Given the description of an element on the screen output the (x, y) to click on. 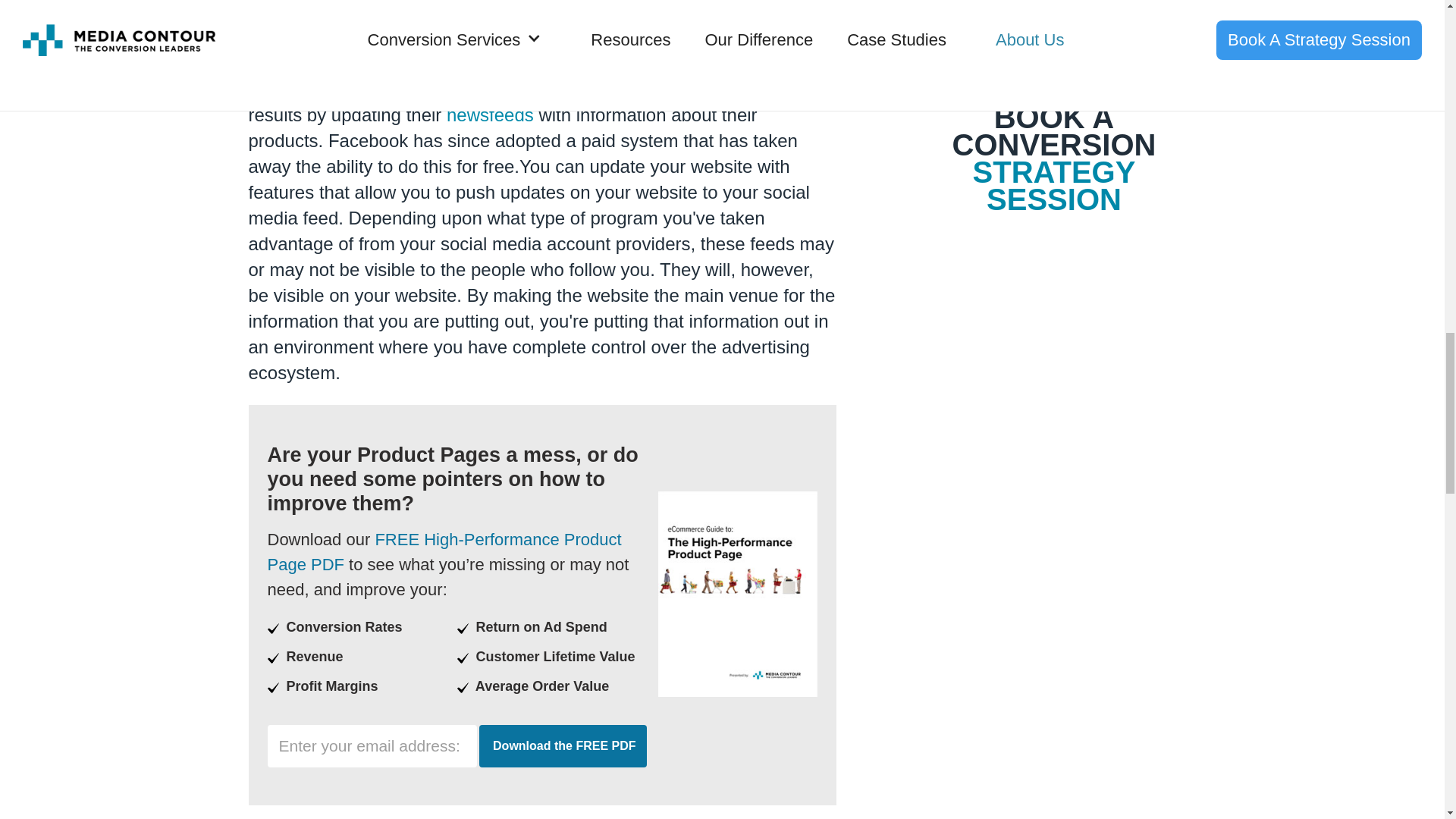
 Download the FREE PDF (562, 745)
newsfeeds (490, 114)
 Download the FREE PDF (562, 745)
